Given the description of an element on the screen output the (x, y) to click on. 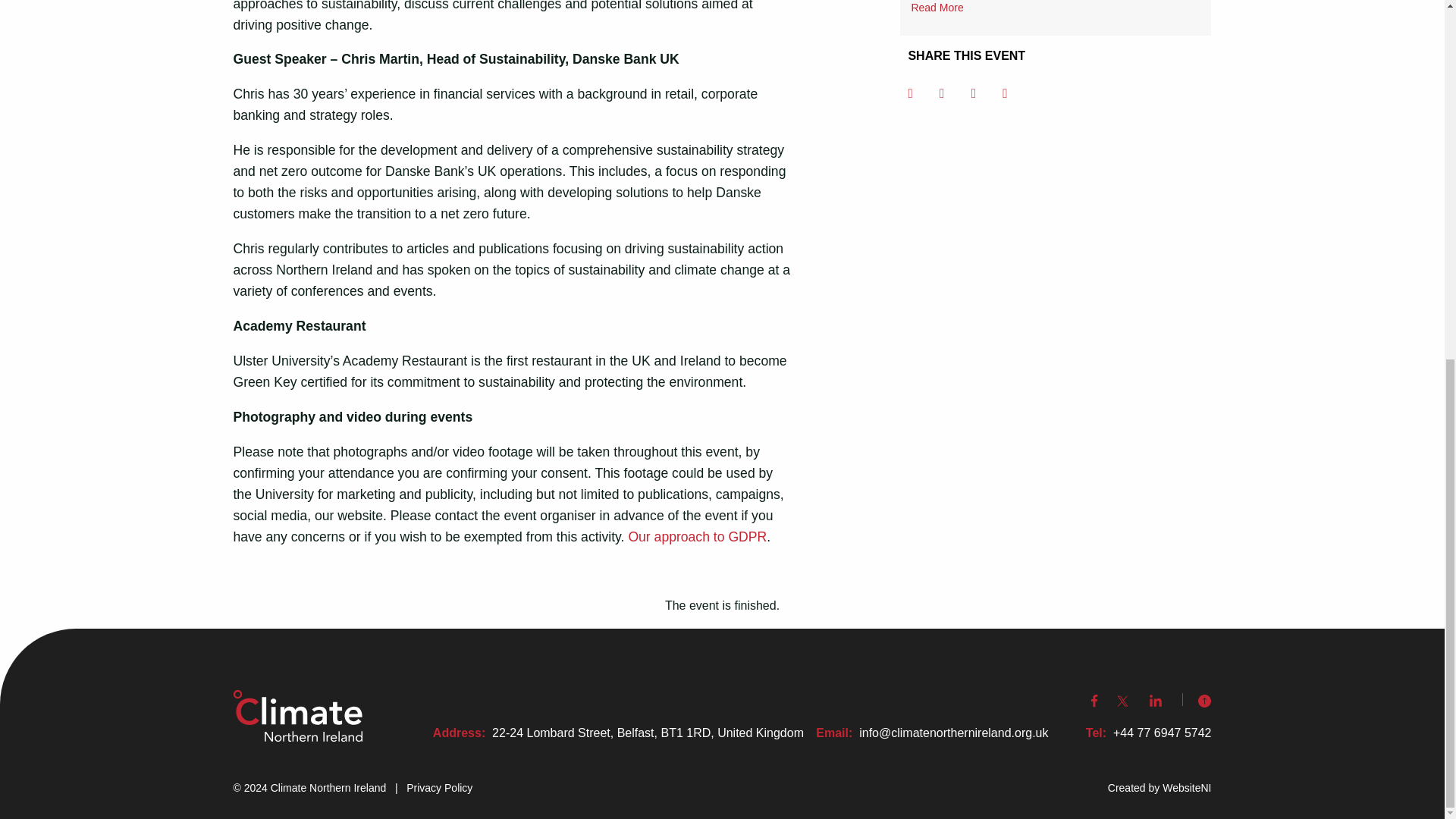
Climate NI (297, 715)
